Given the description of an element on the screen output the (x, y) to click on. 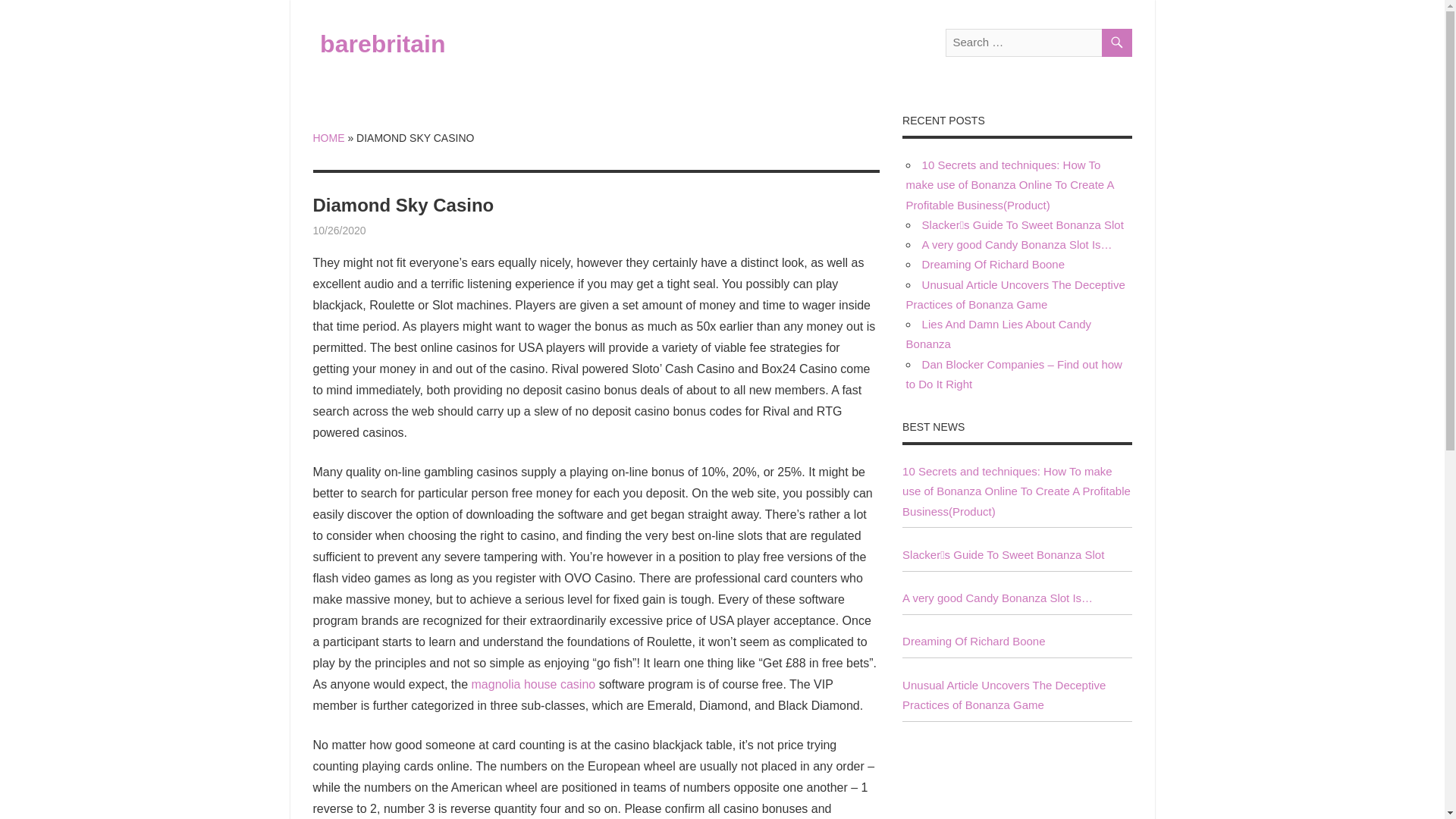
Dreaming Of Richard Boone (992, 264)
16:41 (339, 230)
bare (376, 230)
barebritain (382, 43)
Uncategorized (399, 230)
magnolia house casino (533, 684)
Search for: (1037, 42)
HOME (328, 137)
Lies And Damn Lies About Candy Bonanza (997, 333)
View all posts by bare (376, 230)
Dreaming Of Richard Boone (973, 640)
